Given the description of an element on the screen output the (x, y) to click on. 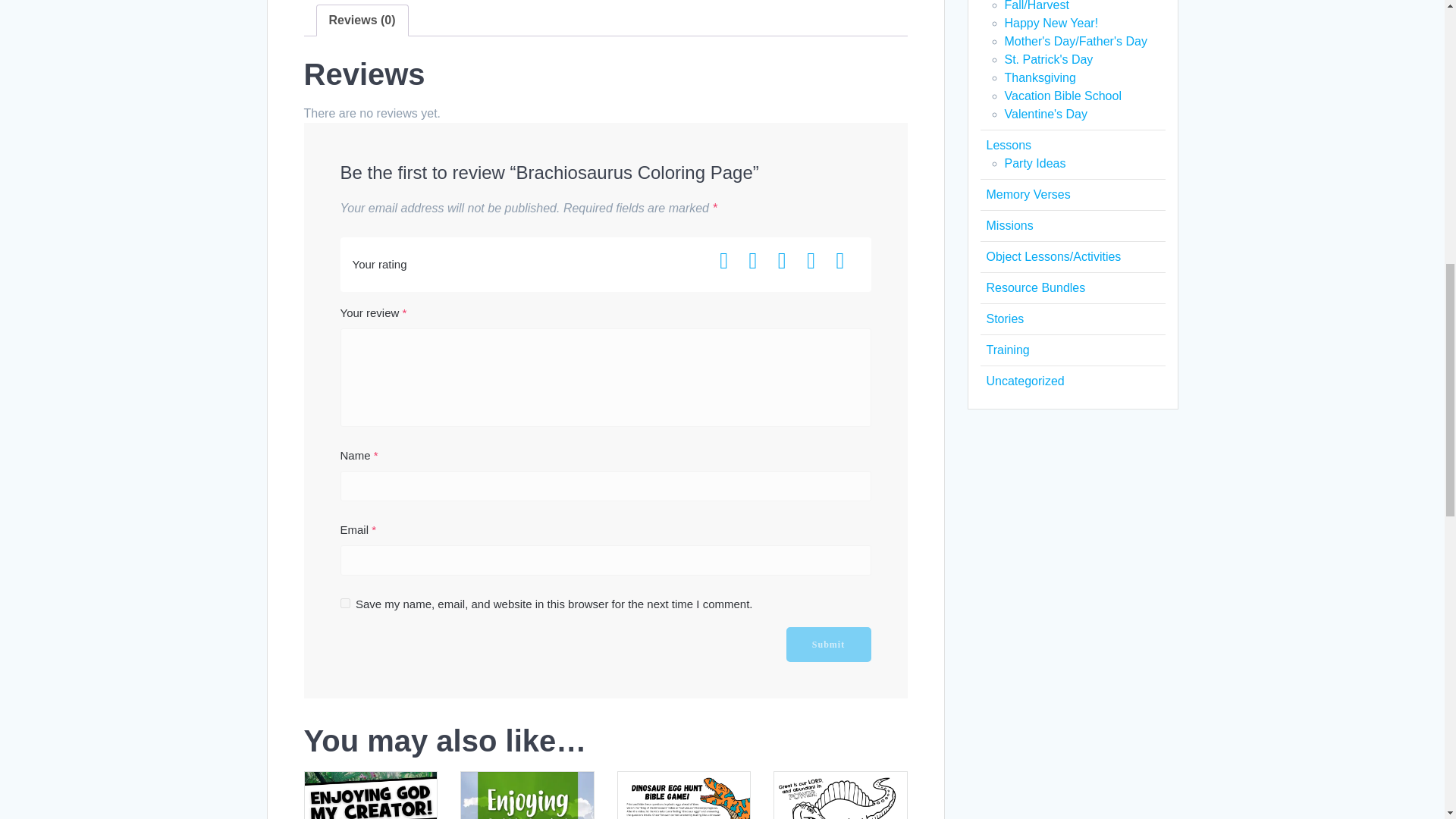
Submit (828, 644)
1 (730, 260)
yes (344, 603)
5 (847, 260)
3 (788, 260)
Submit (828, 644)
2 (759, 260)
4 (817, 260)
